Given the description of an element on the screen output the (x, y) to click on. 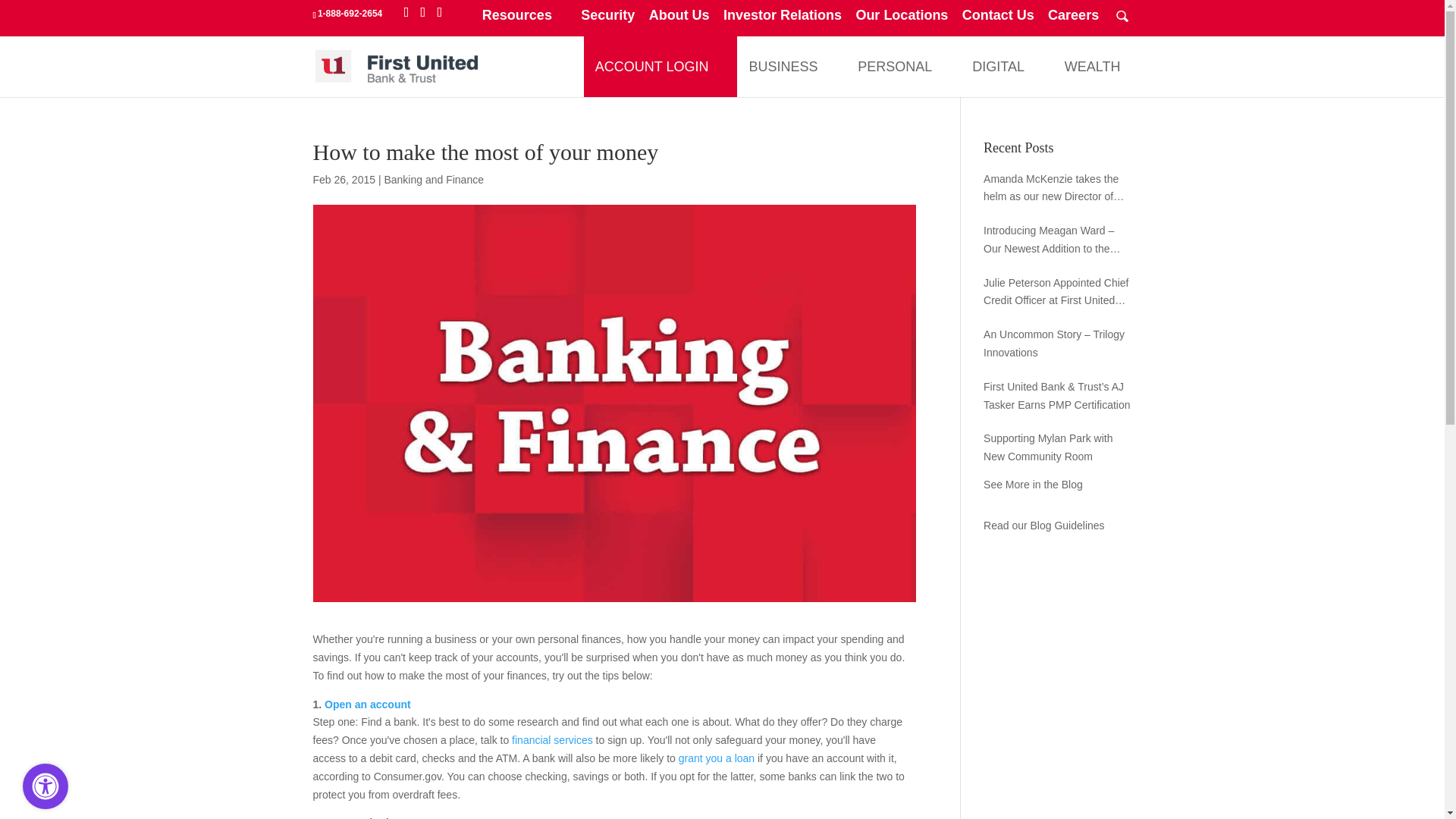
Resources (524, 20)
PERSONAL (894, 66)
Security (607, 20)
Investor Relations (782, 20)
Careers (1073, 20)
About Us (679, 20)
ACCOUNT LOGIN (651, 66)
Wealth (1092, 66)
Our Locations (901, 20)
Contact Us (997, 20)
BUSINESS (782, 66)
Investor Relations (782, 20)
